Given the description of an element on the screen output the (x, y) to click on. 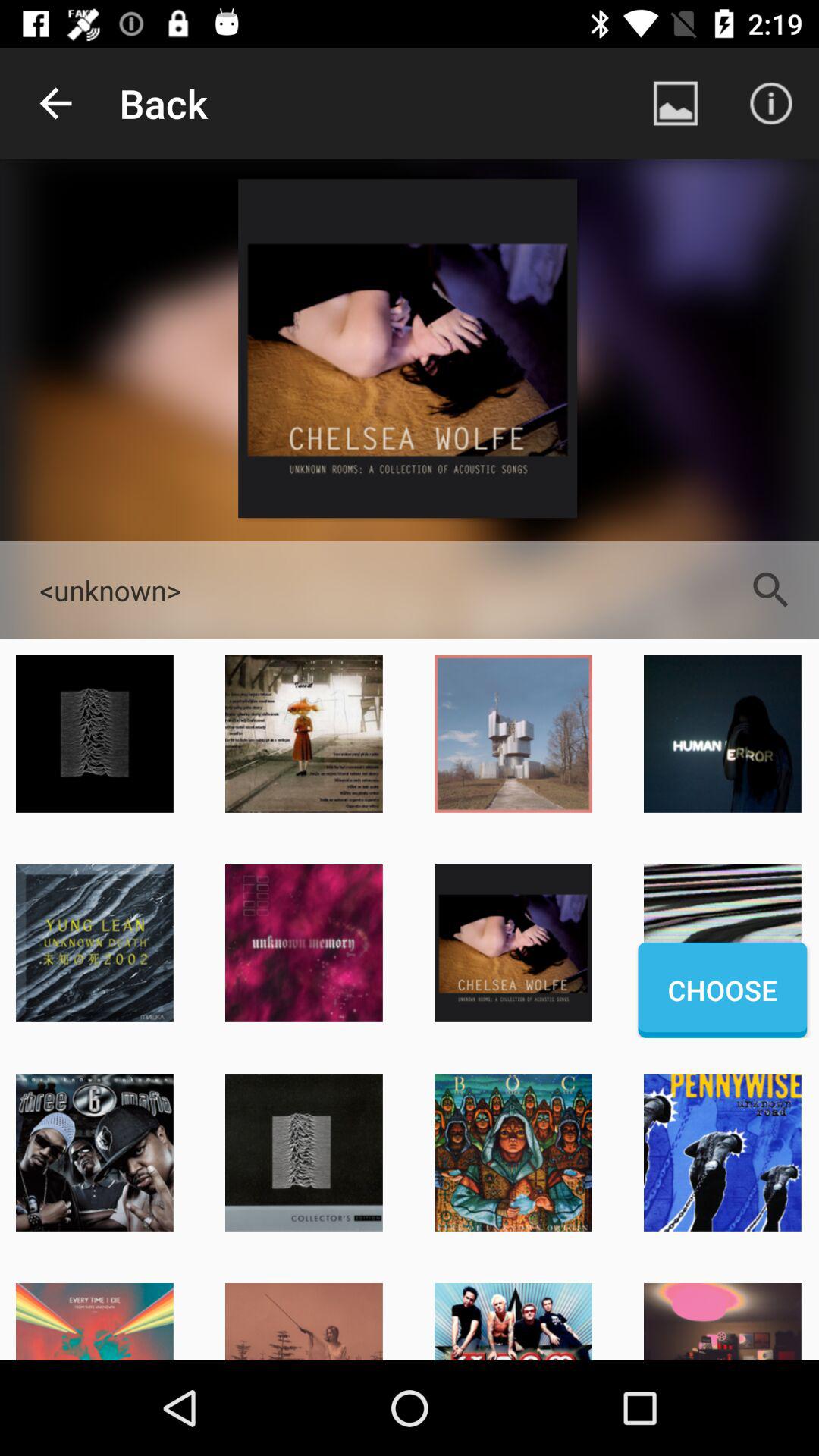
click item next to the back app (55, 103)
